Given the description of an element on the screen output the (x, y) to click on. 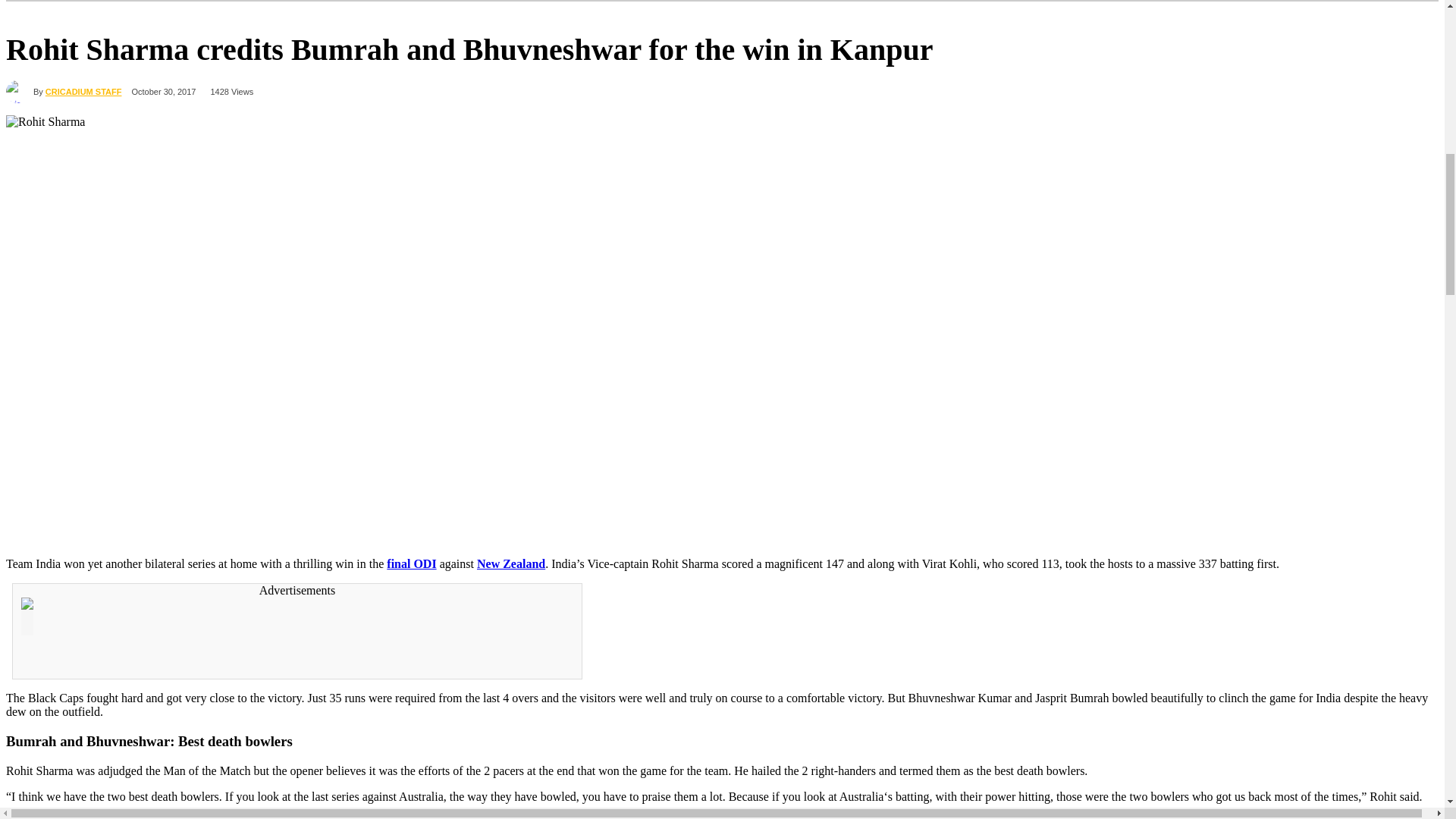
Cricadium Staff (19, 91)
